Given the description of an element on the screen output the (x, y) to click on. 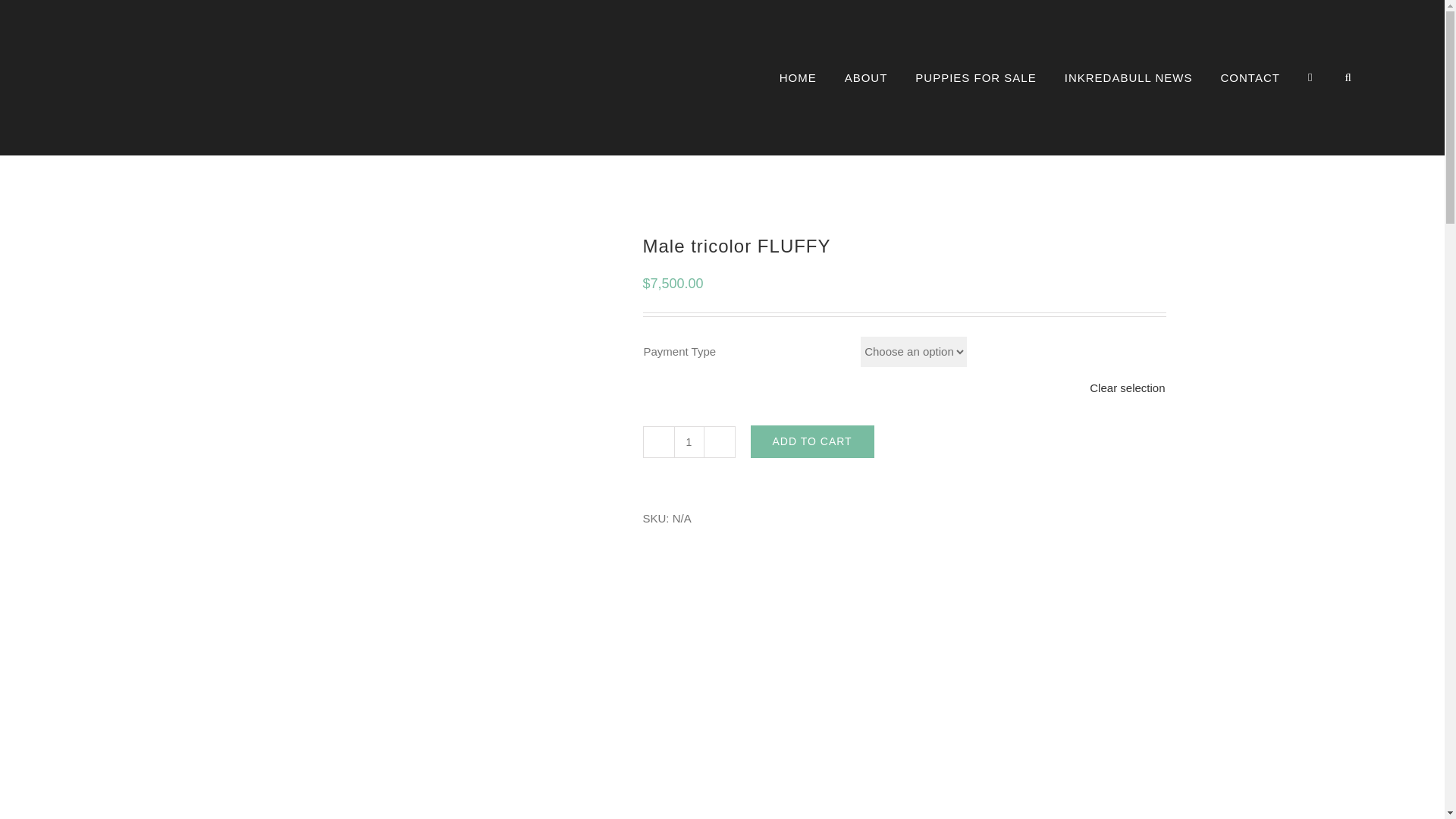
1 (687, 441)
INKREDABULL NEWS (1128, 77)
ADD TO CART (813, 441)
Qty (687, 441)
Clear selection (1126, 387)
PUPPIES FOR SALE (975, 77)
